Given the description of an element on the screen output the (x, y) to click on. 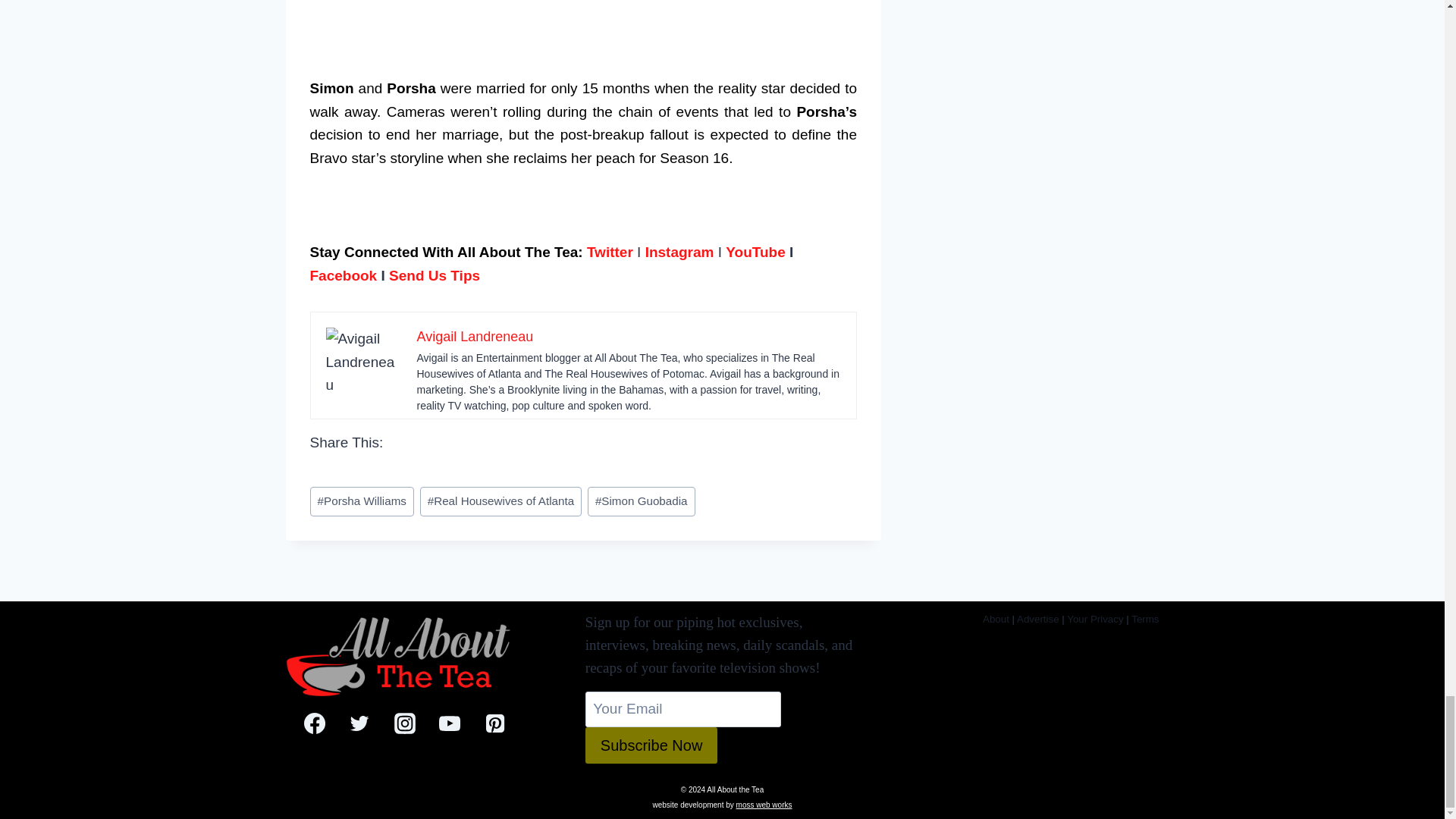
Twitter (609, 252)
Send Us Tips (434, 274)
YouTube (754, 252)
Facebook (342, 274)
Instagram (679, 252)
